Given the description of an element on the screen output the (x, y) to click on. 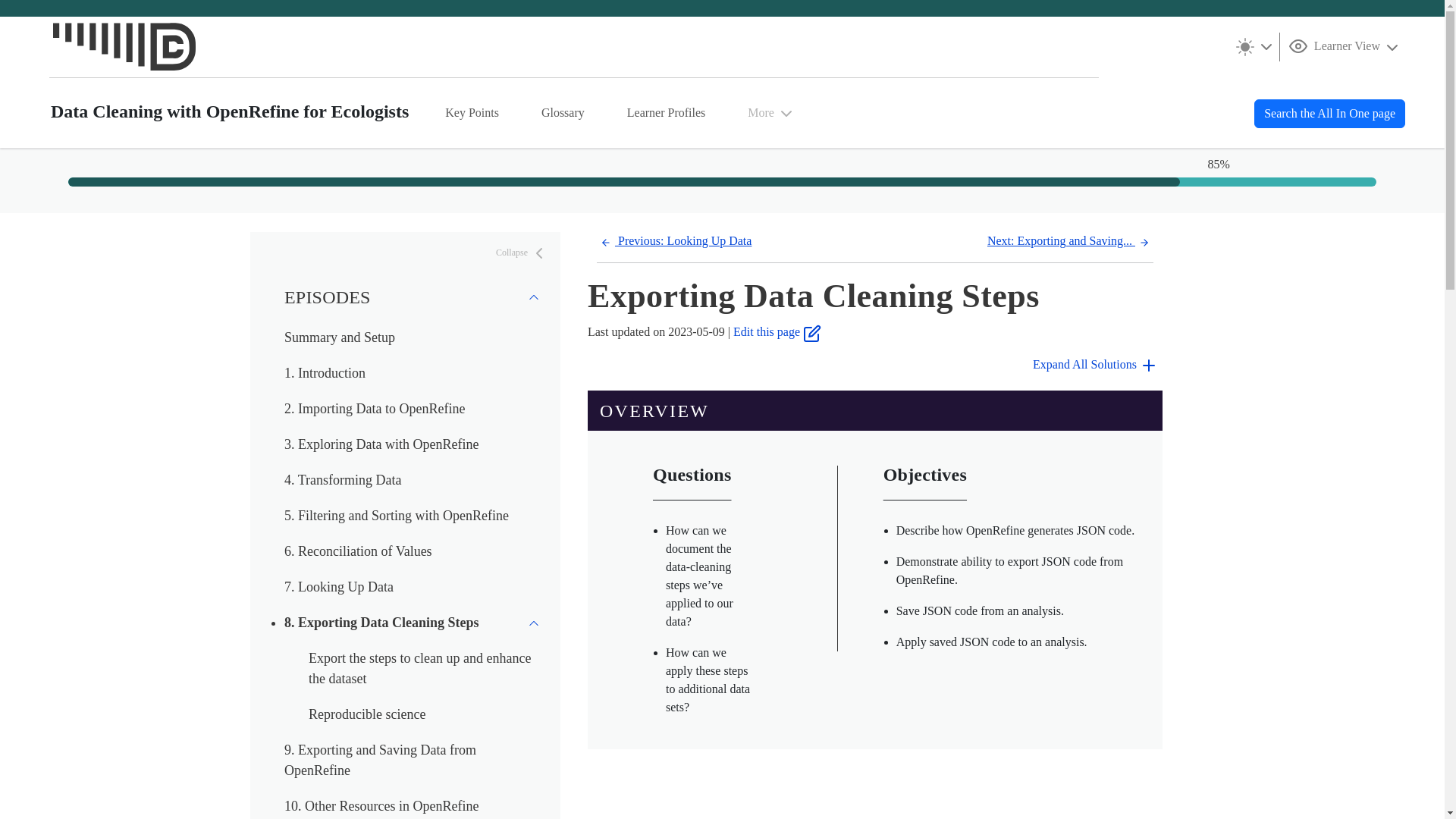
10. Other Resources in OpenRefine (381, 806)
2. Importing Data to OpenRefine (373, 408)
9. Exporting and Saving Data from OpenRefine (379, 760)
Reproducible science (366, 713)
Export the steps to clean up and enhance the dataset (419, 668)
Collapse (522, 252)
6. Reconciliation of Values (357, 550)
Summary and Setup (338, 337)
Learner View (1344, 46)
Key Points (472, 112)
Learner Profiles (666, 112)
EPISODES (412, 296)
More (771, 112)
